Given the description of an element on the screen output the (x, y) to click on. 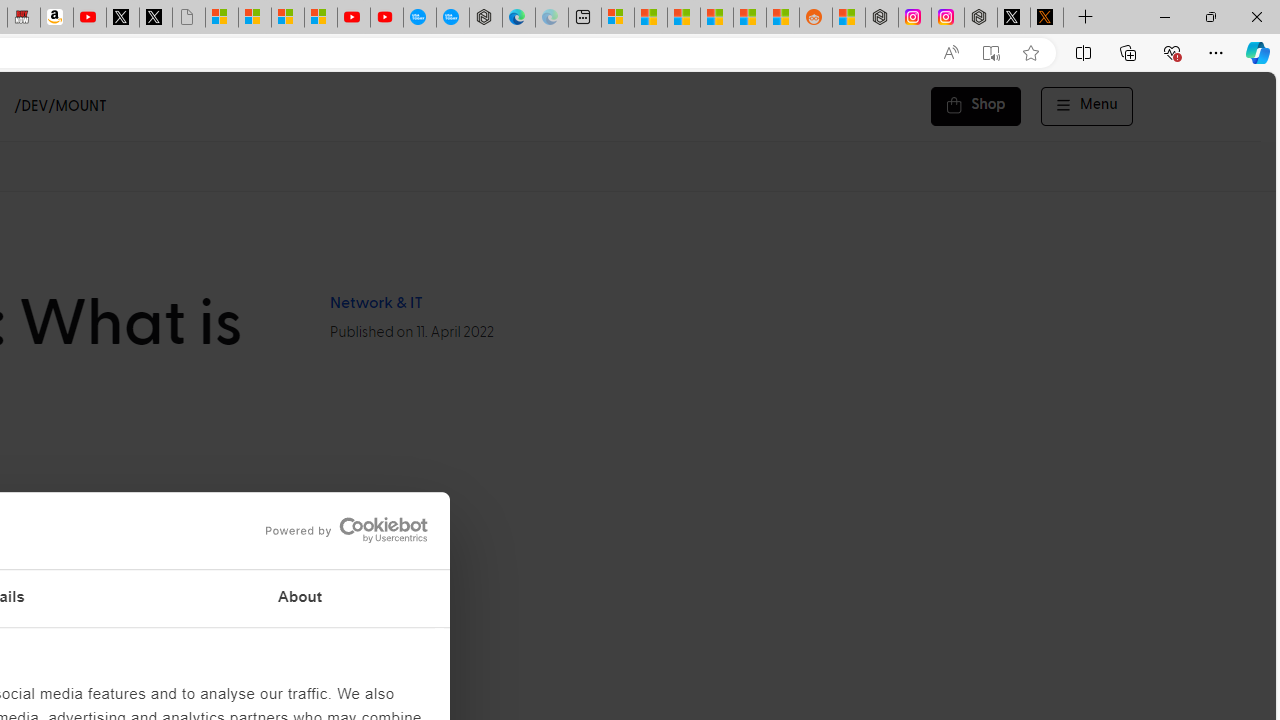
Menu Off-Canvas (1087, 106)
Nordace (@NordaceOfficial) / X (1014, 17)
Untitled (188, 17)
logo - opens in a new window (339, 530)
About (299, 598)
Network & IT (375, 303)
